Given the description of an element on the screen output the (x, y) to click on. 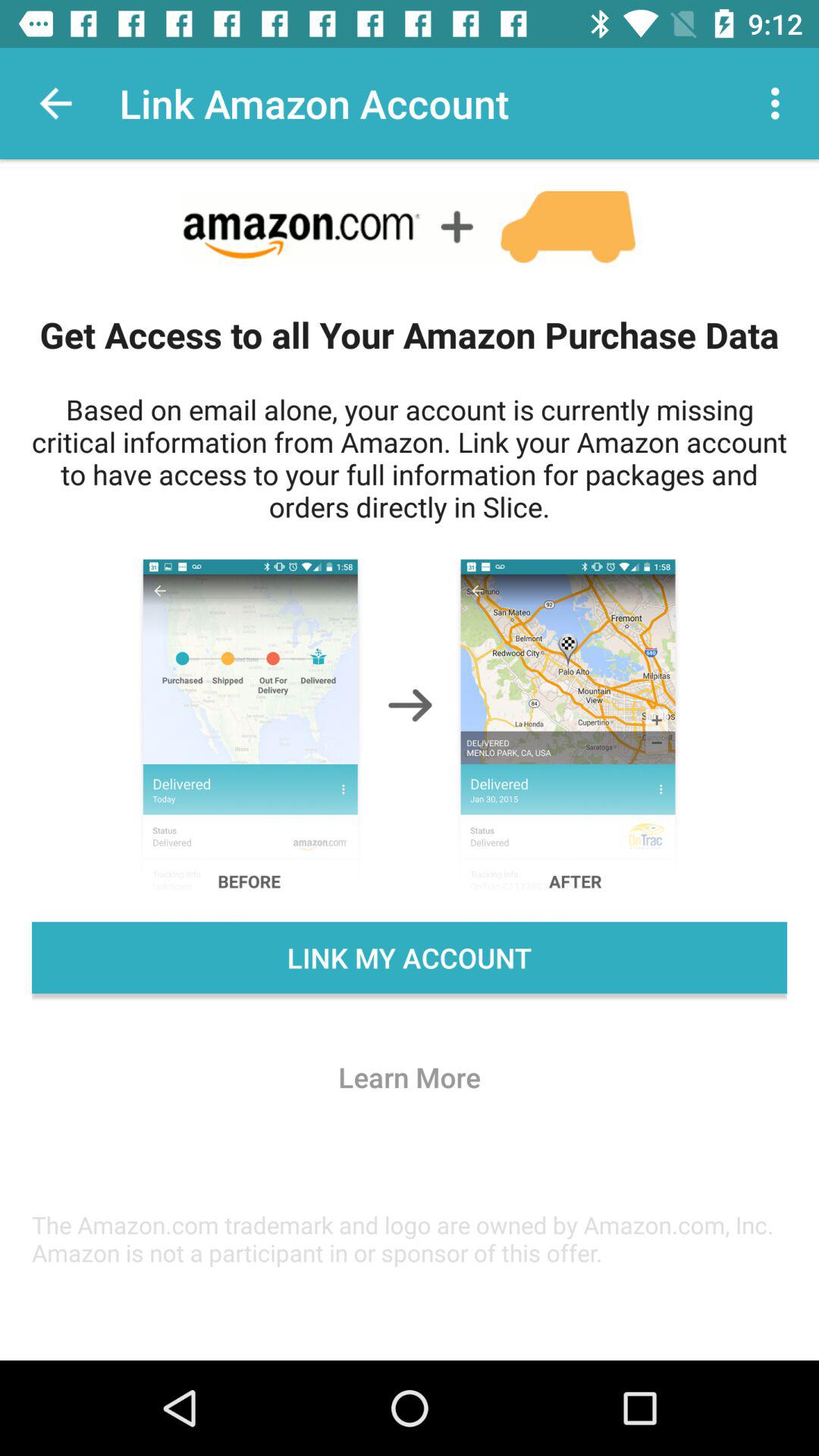
press the app to the left of link amazon account app (55, 103)
